Given the description of an element on the screen output the (x, y) to click on. 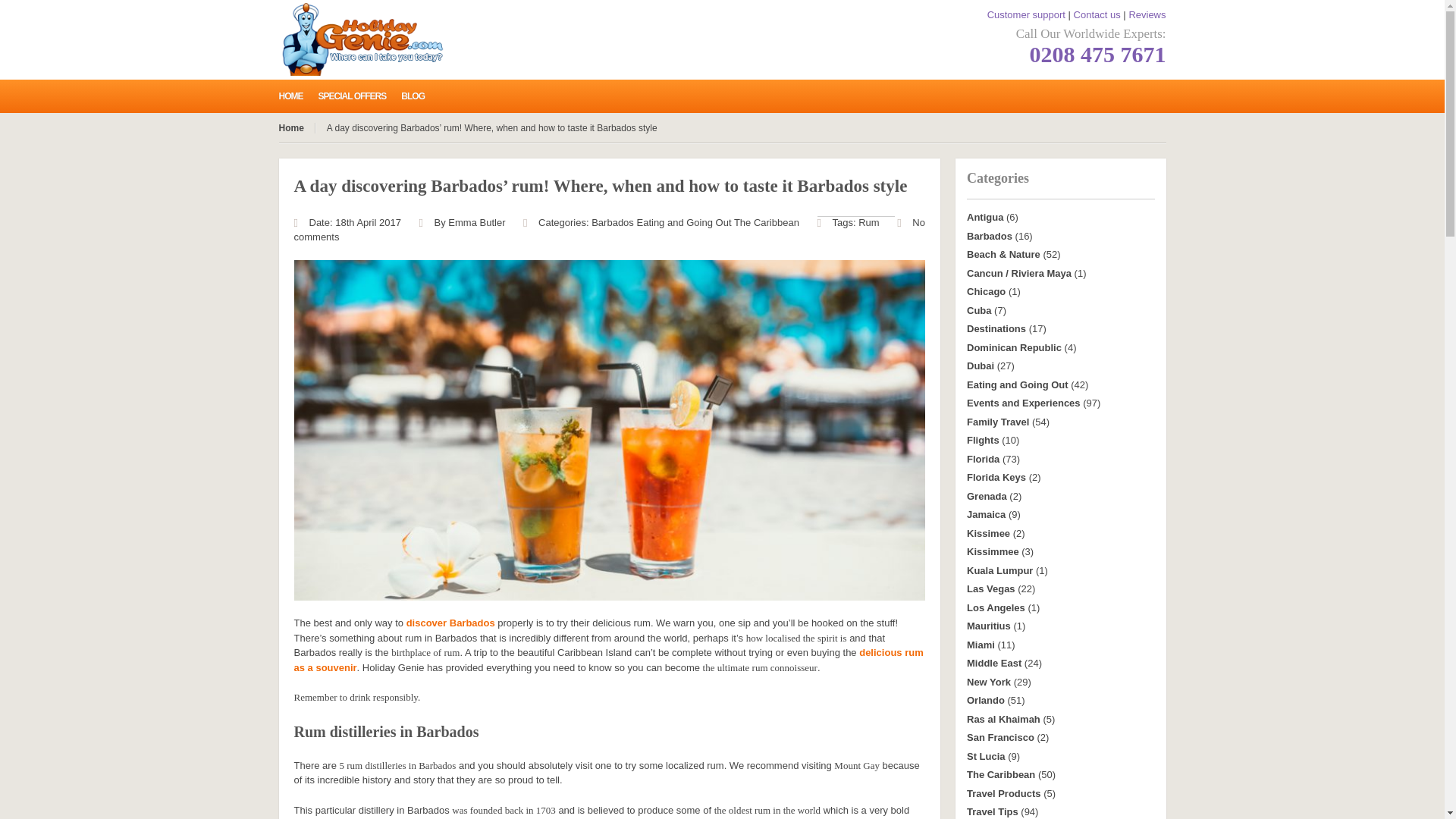
Emma Butler (476, 222)
Eating and Going Out (683, 222)
Barbados (612, 222)
Eating and Going Out (1017, 384)
Customer support (1026, 14)
The Caribbean (766, 222)
Home (297, 127)
No comments (609, 230)
BLOG (420, 95)
Chicago (986, 291)
Posts by Emma Butler (476, 222)
FACEBOOK (870, 96)
Dubai (980, 365)
SPECIAL OFFERS (359, 95)
discover Barbados (450, 622)
